Given the description of an element on the screen output the (x, y) to click on. 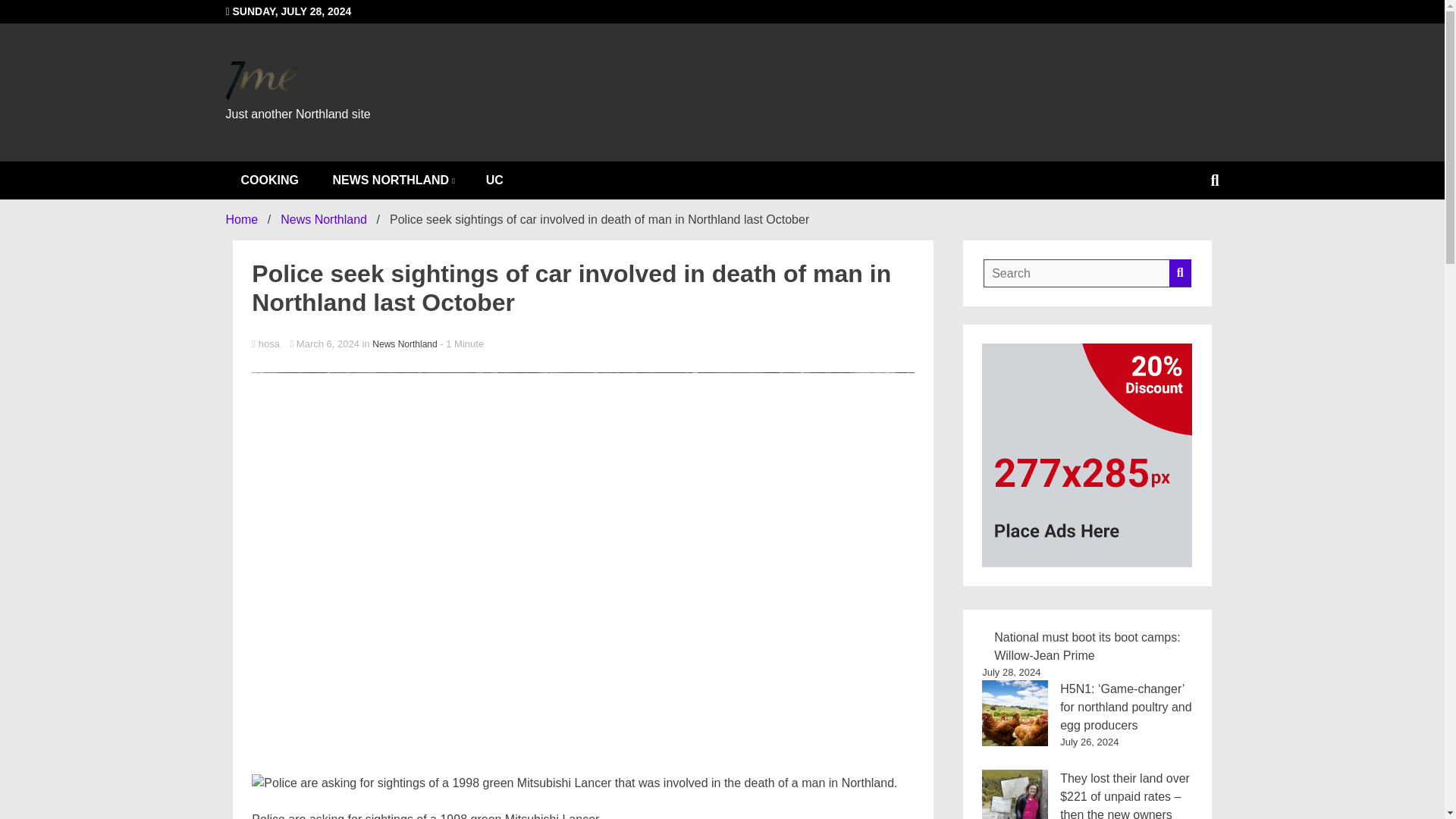
March 6, 2024 (325, 343)
News Northland (323, 219)
News Northland (404, 344)
UC (494, 180)
Home (242, 219)
Estimated Reading Time of Article (461, 343)
hosa (582, 344)
National must boot its boot camps: Willow-Jean Prime (1086, 645)
NEWS NORTHLAND (392, 180)
COOKING (269, 180)
